Given the description of an element on the screen output the (x, y) to click on. 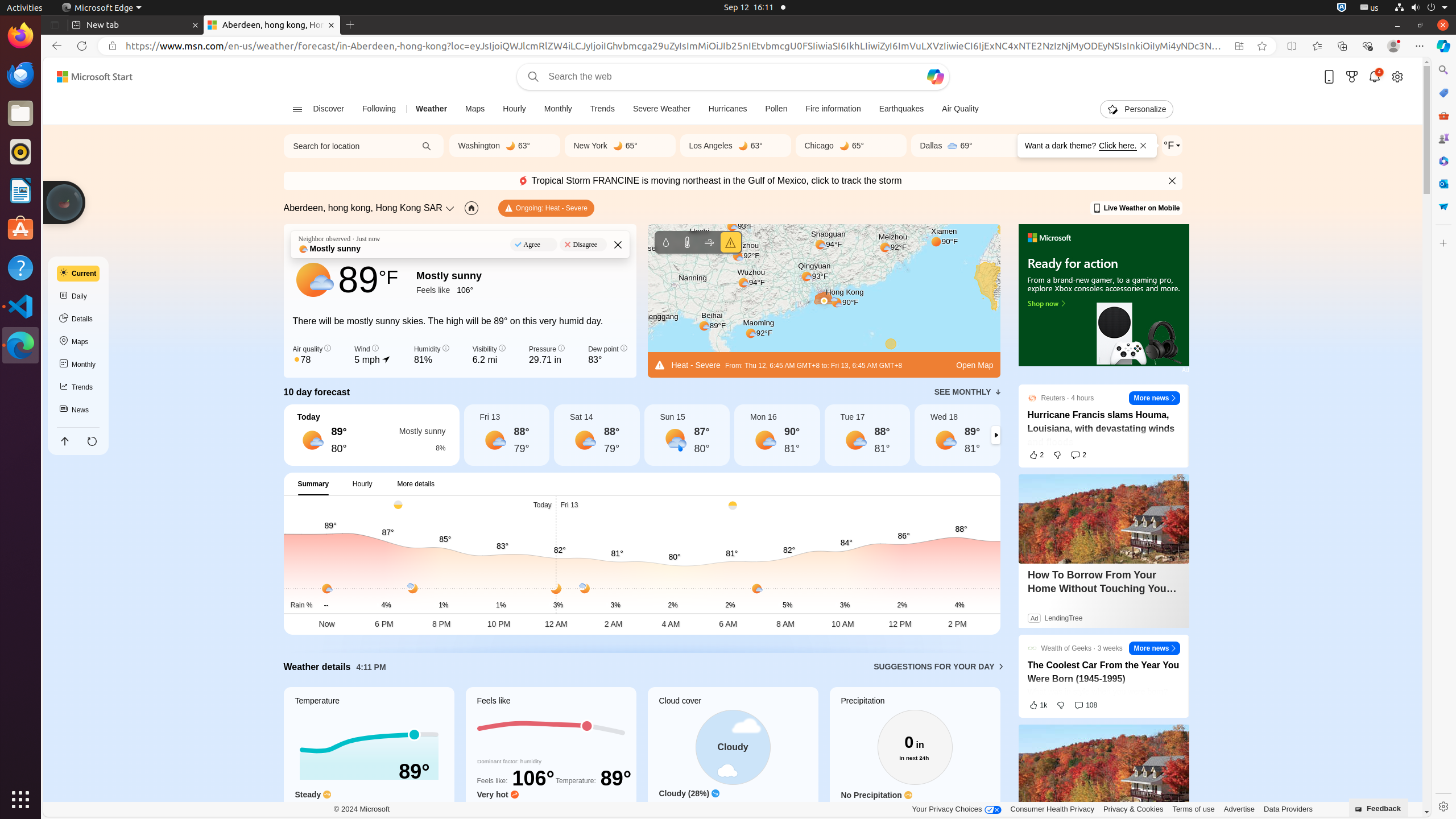
Hurricanes Element type: link (727, 108)
Tropical Storm FRANCINE is moving northeast in the Gulf of Mexico, click to track the storm Element type: link (710, 180)
View site information Element type: push-button (112, 46)
See Monthly Element type: push-button (966, 391)
static map image of vector map Element type: link (823, 300)
